Given the description of an element on the screen output the (x, y) to click on. 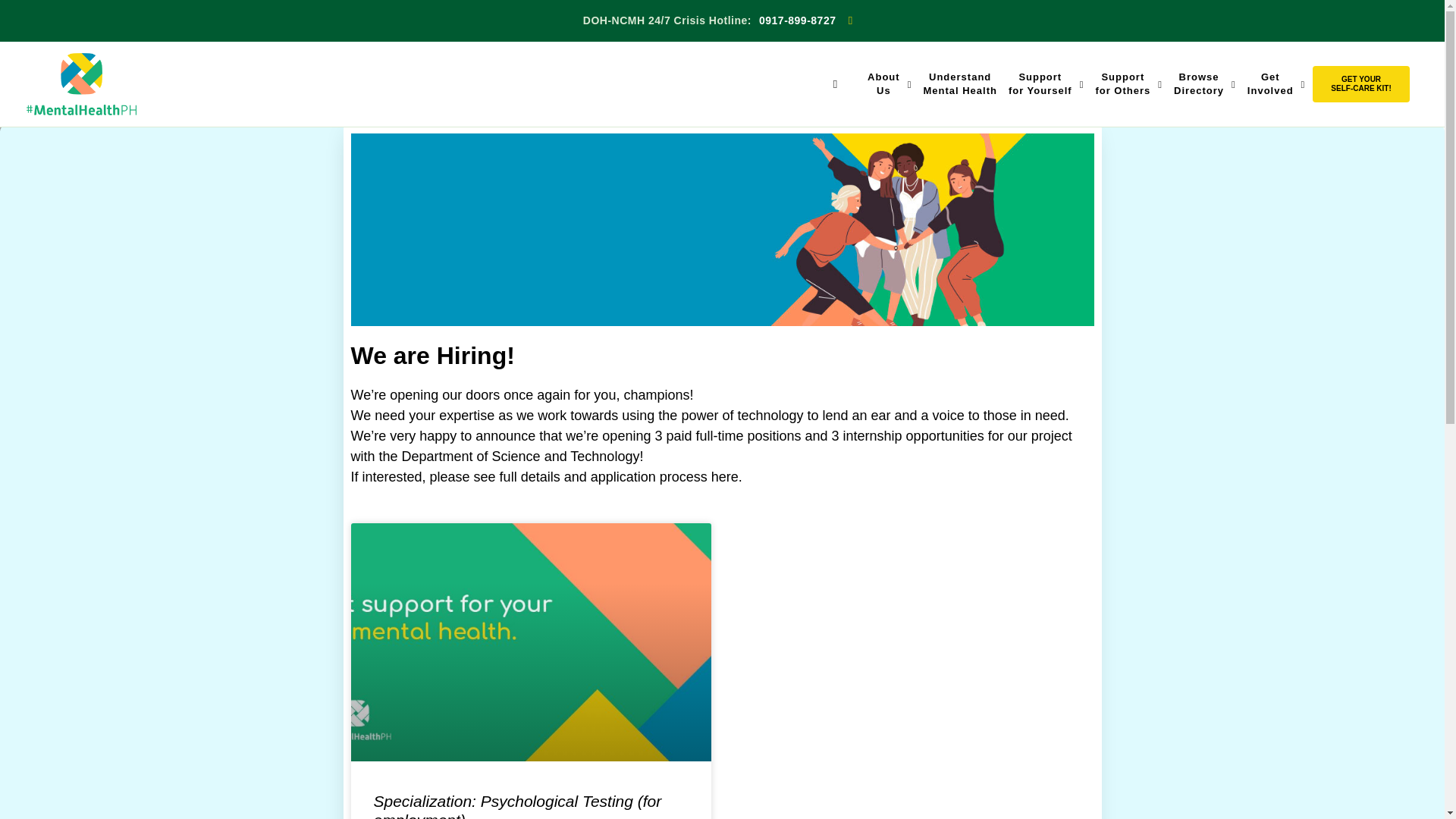
0917-899-8727 (796, 20)
